Given the description of an element on the screen output the (x, y) to click on. 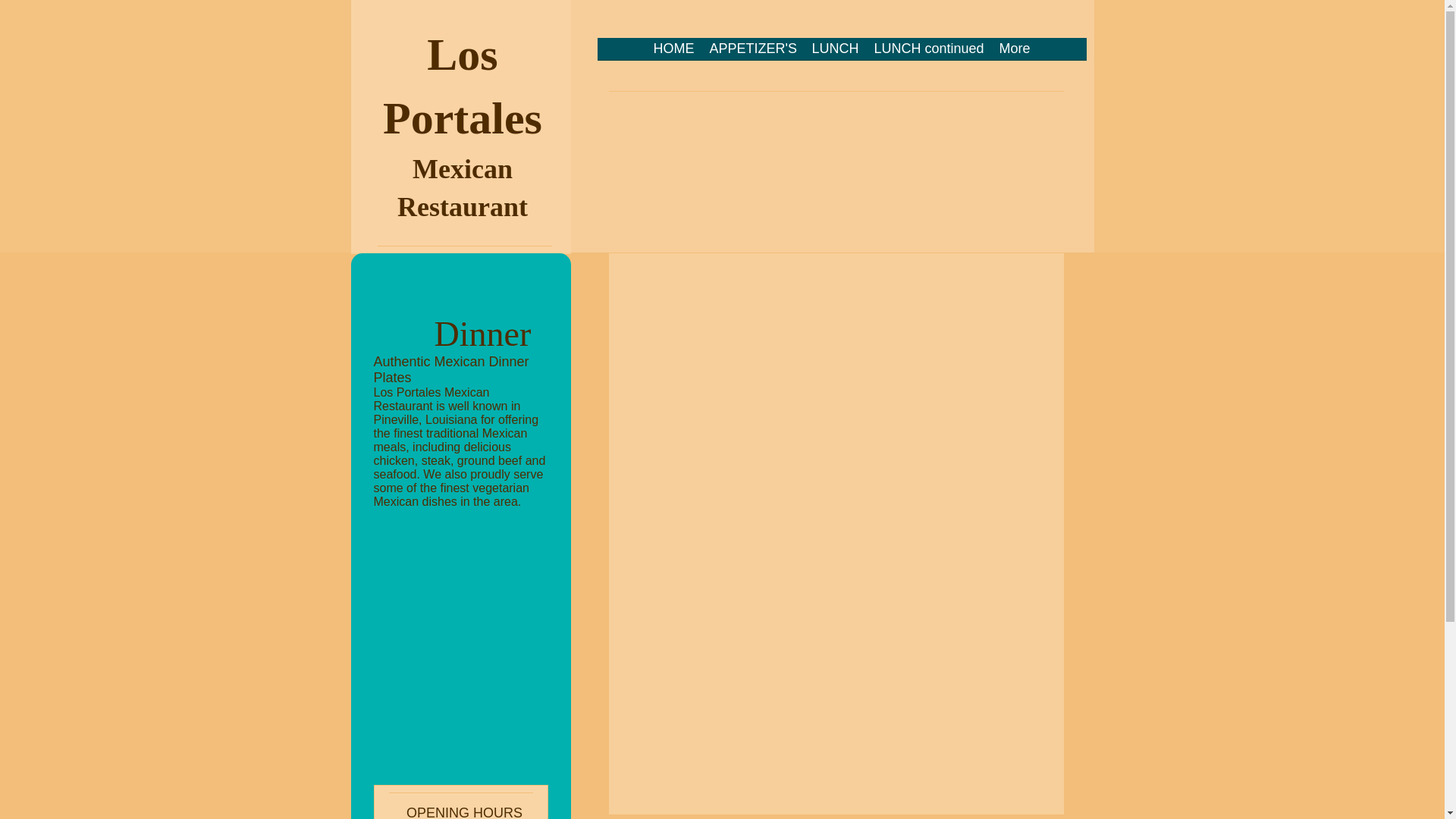
LUNCH (834, 53)
HOME (673, 53)
LUNCH continued (928, 53)
APPETIZER'S (753, 53)
